Given the description of an element on the screen output the (x, y) to click on. 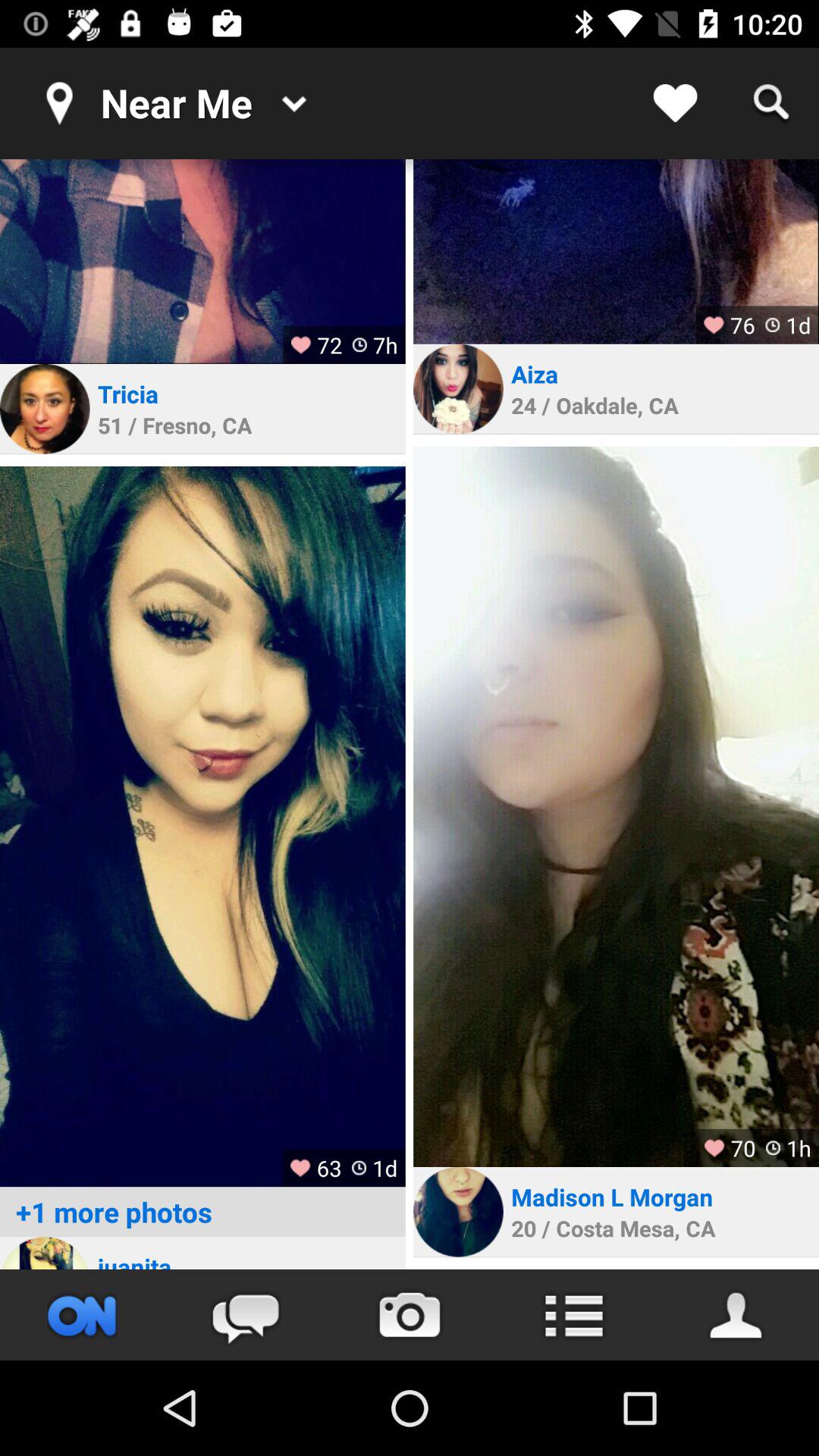
click to view profile picture (458, 1211)
